Given the description of an element on the screen output the (x, y) to click on. 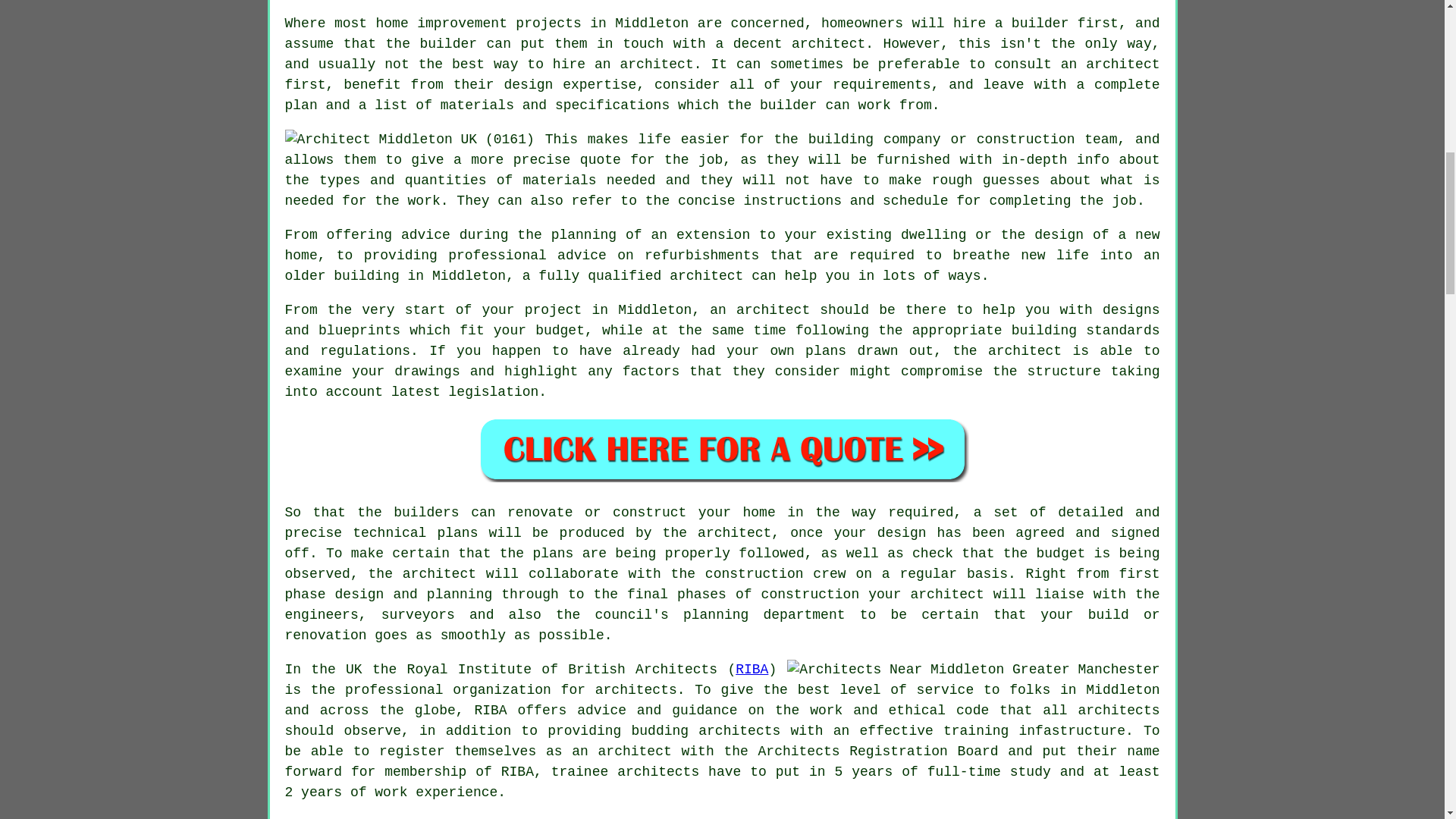
architect (705, 275)
Architects Near Middleton Greater Manchester (972, 670)
architect (828, 43)
building standards (1085, 330)
architects (636, 689)
Architect Quotes in Middleton Greater Manchester (722, 449)
design (901, 532)
materials (558, 180)
